Given the description of an element on the screen output the (x, y) to click on. 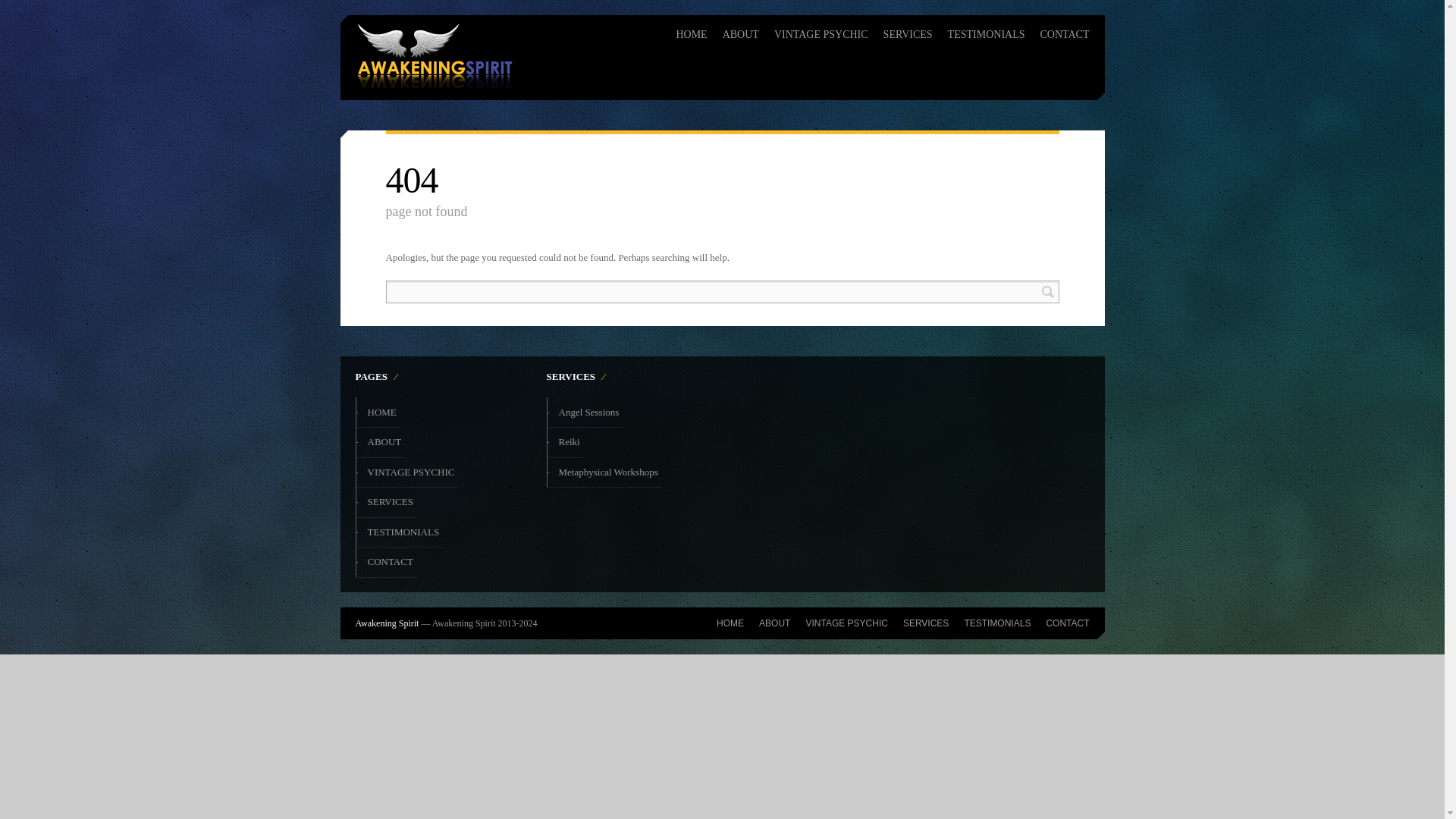
VINTAGE PSYCHIC (845, 623)
Metaphysical Workshops (608, 472)
SERVICES (925, 623)
ABOUT (385, 441)
Angel Sessions (588, 412)
TESTIMONIALS (986, 30)
Awakening Spirit (433, 55)
ABOUT (740, 30)
Awakening Spirit (387, 623)
TESTIMONIALS (404, 531)
